Given the description of an element on the screen output the (x, y) to click on. 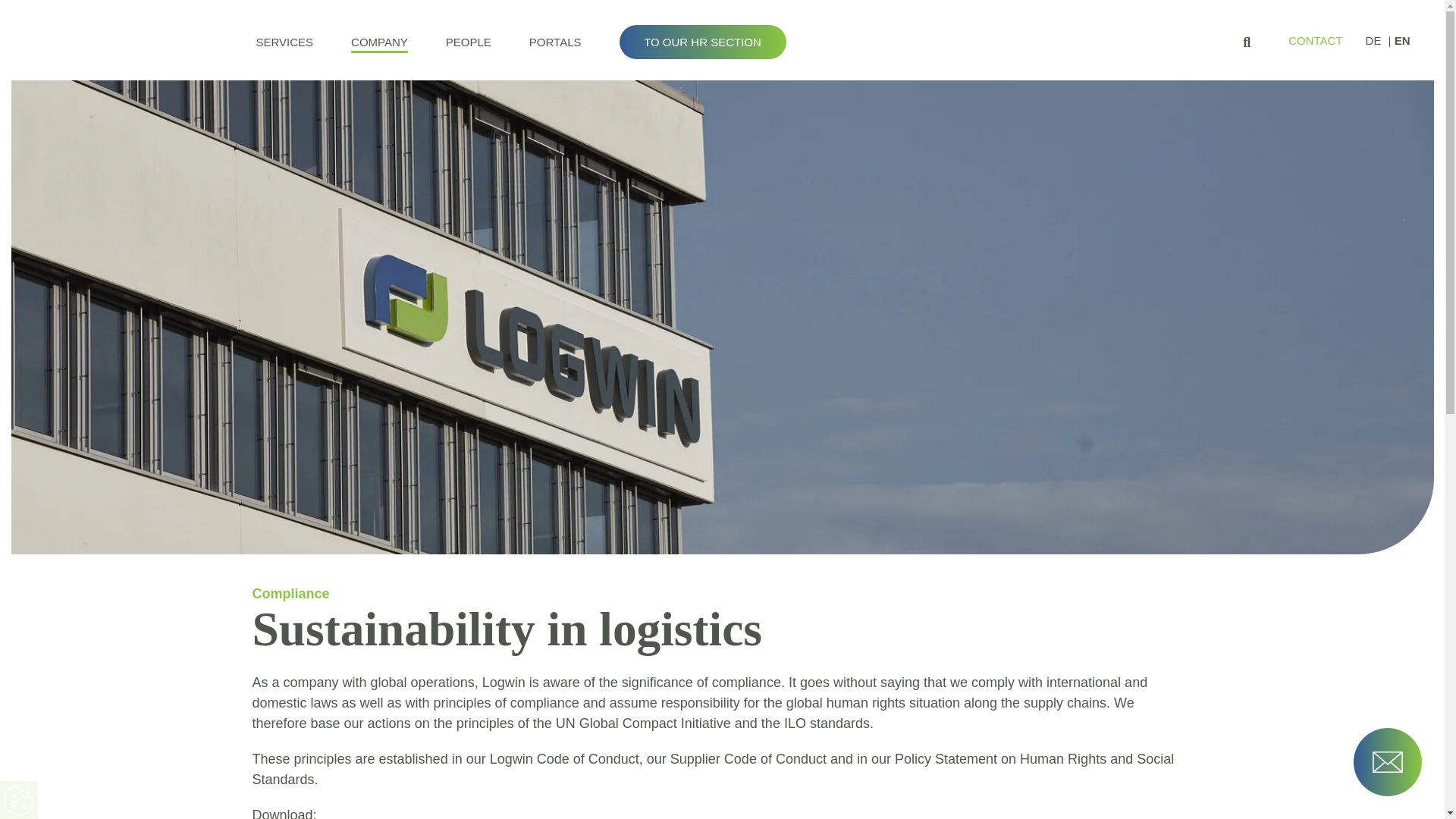
Services (285, 44)
Zur Startseite (108, 39)
